Given the description of an element on the screen output the (x, y) to click on. 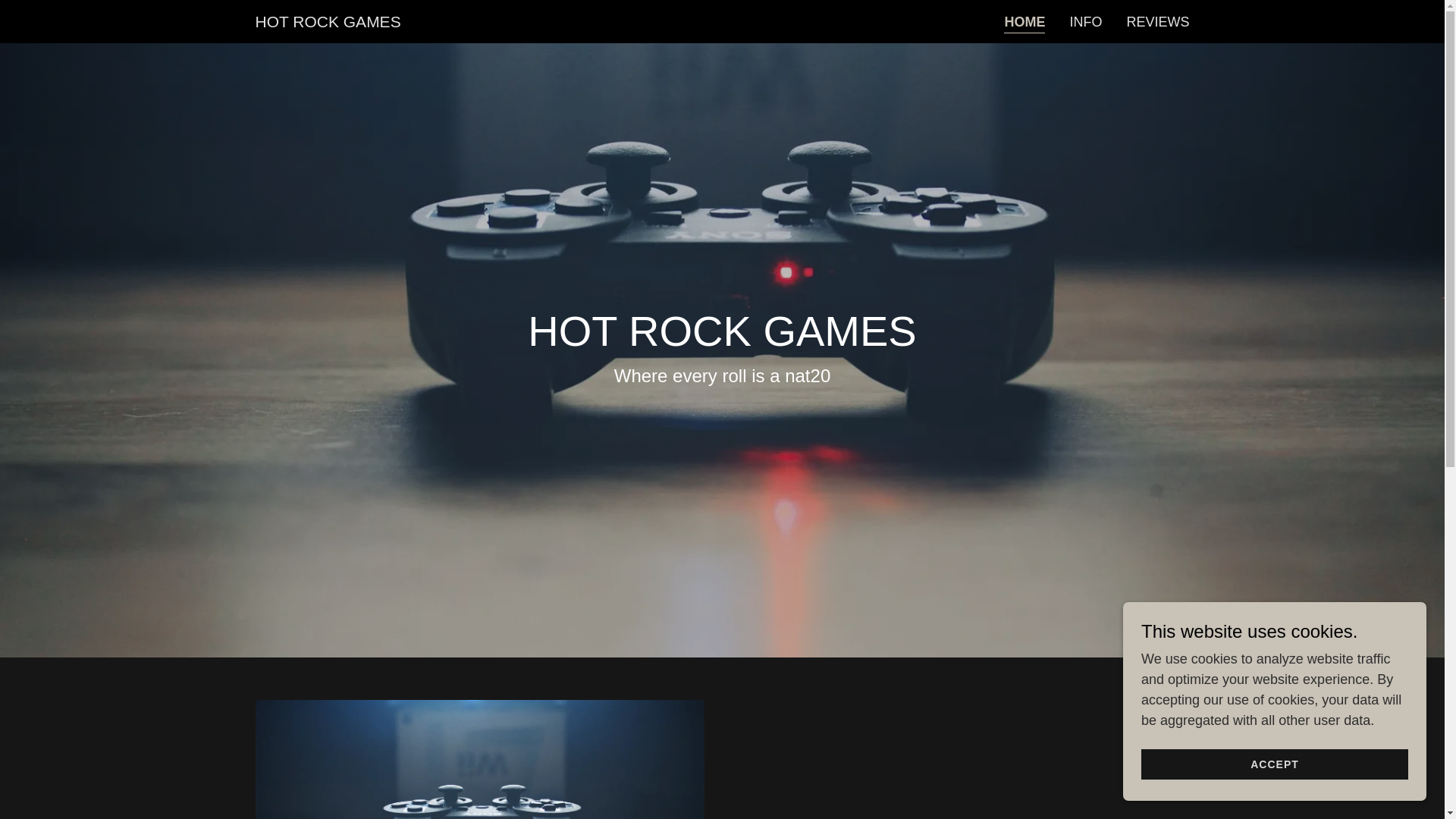
INFO (1085, 22)
HOT ROCK GAMES (327, 22)
REVIEWS (1157, 22)
HOME (1024, 23)
Hot Rock Games (327, 22)
ACCEPT (1274, 764)
